Given the description of an element on the screen output the (x, y) to click on. 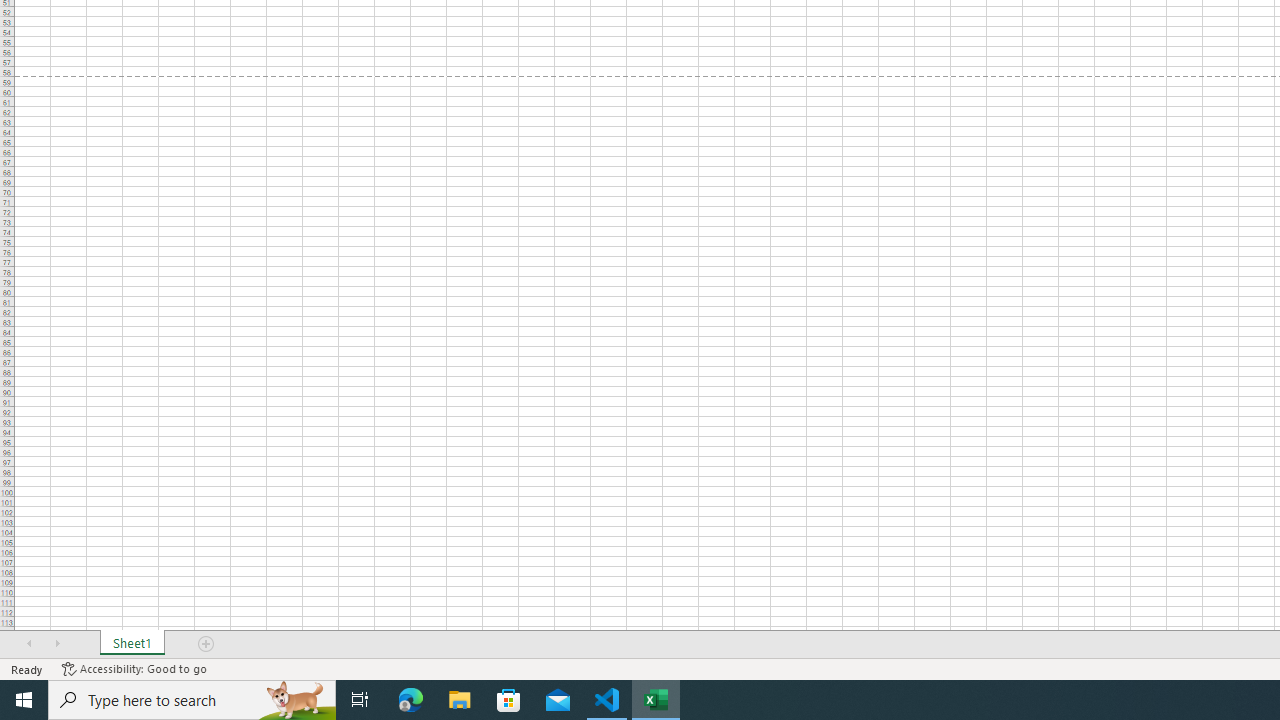
Add Sheet (207, 644)
Accessibility Checker Accessibility: Good to go (134, 668)
Sheet1 (132, 644)
Scroll Left (29, 644)
Scroll Right (57, 644)
